Given the description of an element on the screen output the (x, y) to click on. 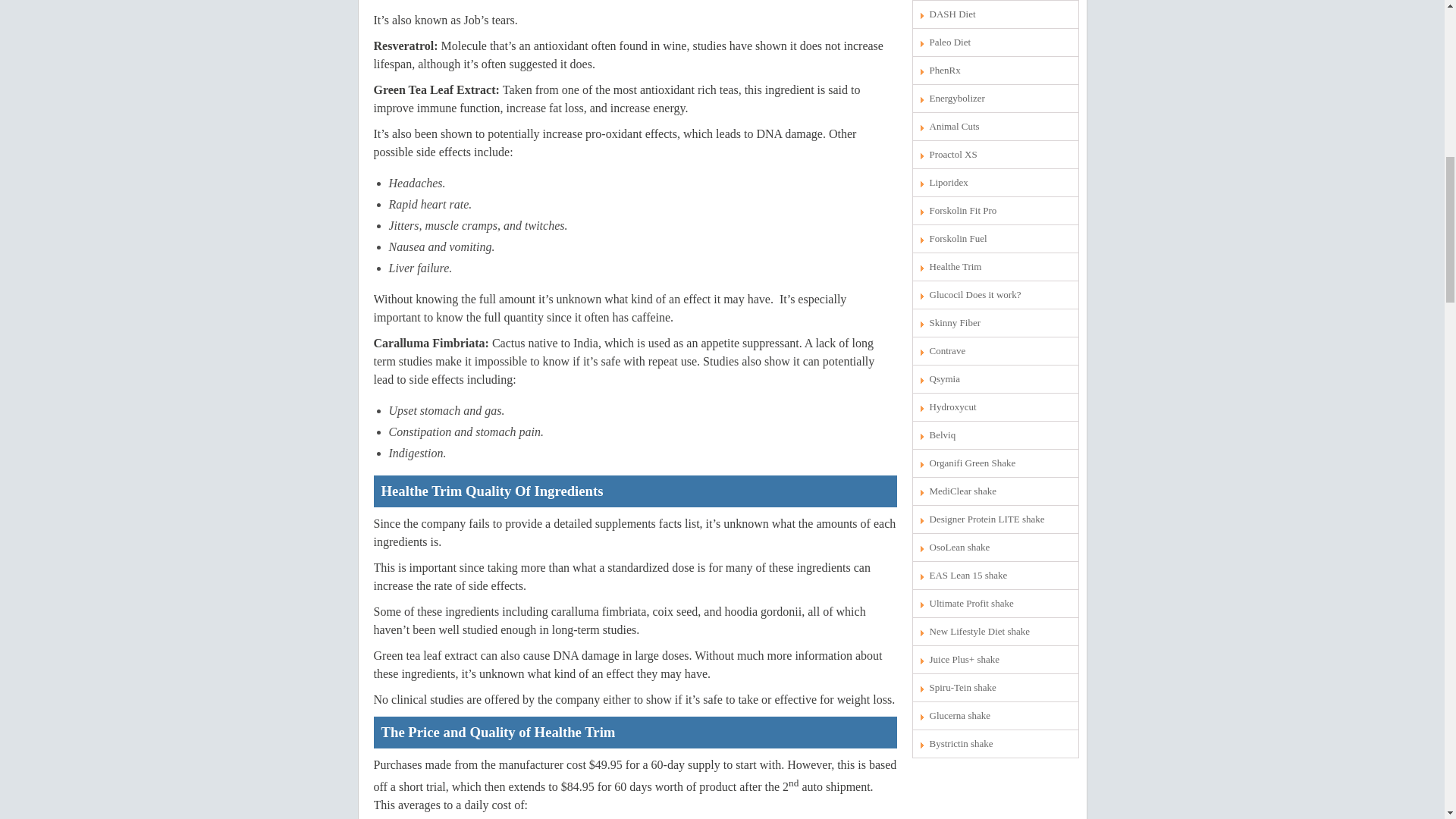
Paleo Diet (995, 42)
DASH Diet (995, 13)
Glucocil Does it work? (995, 294)
Proactol XS (995, 154)
Skinny Fiber (995, 322)
Energybolizer (995, 98)
Liporidex (995, 182)
Forskolin Fuel (995, 238)
PhenRx (995, 70)
Animal Cuts (995, 126)
Forskolin Fit Pro (995, 210)
Healthe Trim (995, 266)
